Given the description of an element on the screen output the (x, y) to click on. 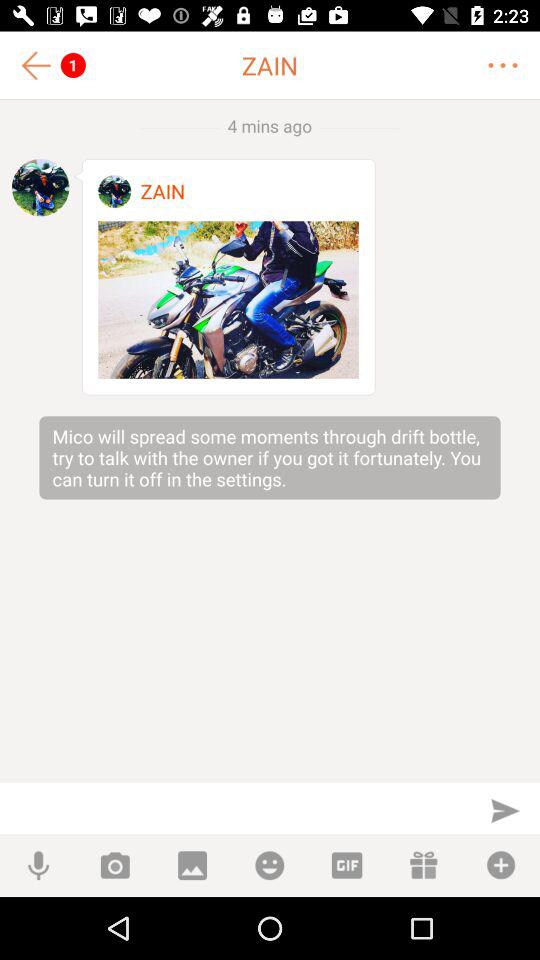
add photo (114, 865)
